Given the description of an element on the screen output the (x, y) to click on. 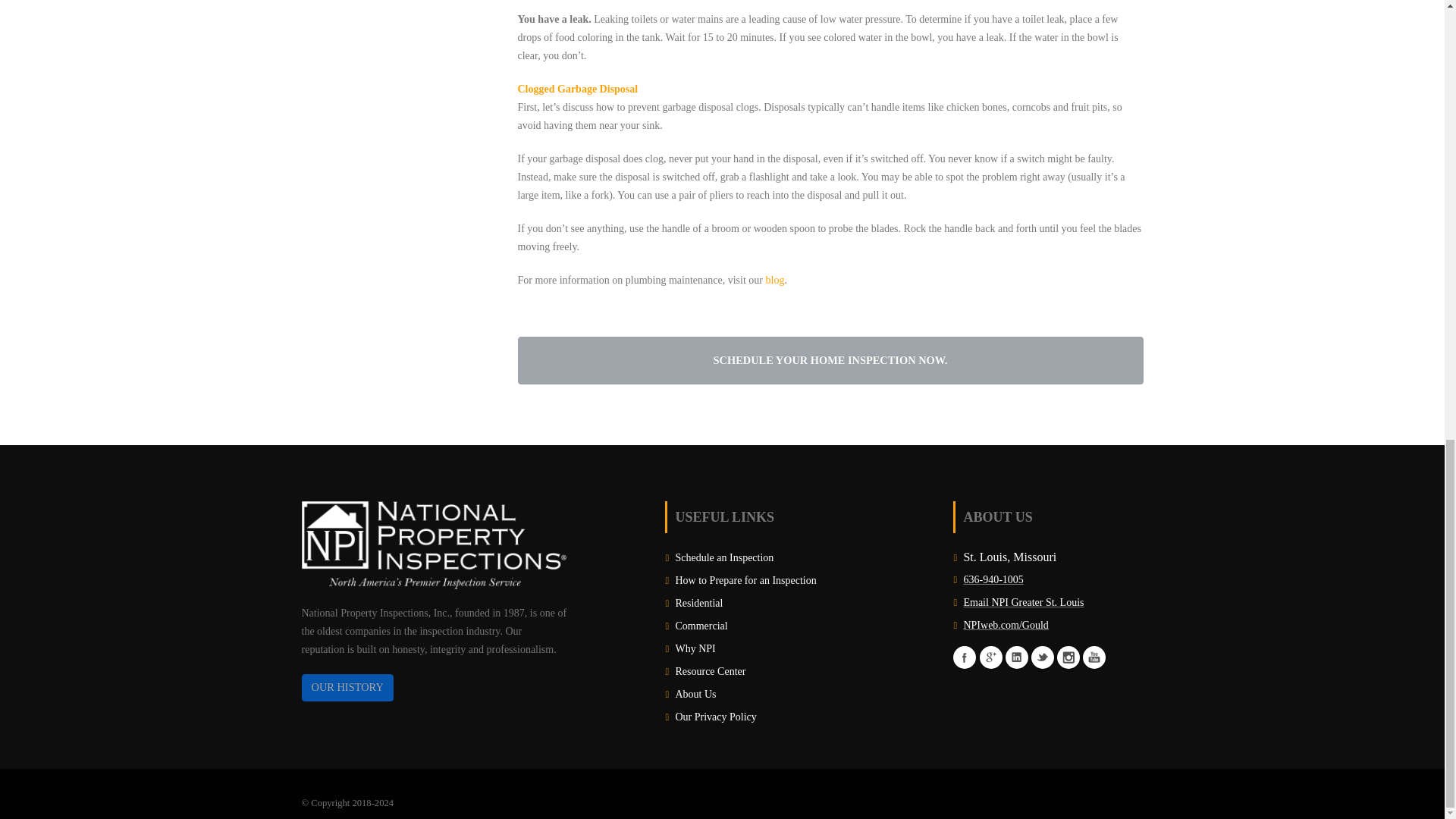
linkedin (1068, 657)
linkedin (1016, 657)
twitter (1042, 657)
googleplus (991, 657)
youtube (1094, 657)
